Given the description of an element on the screen output the (x, y) to click on. 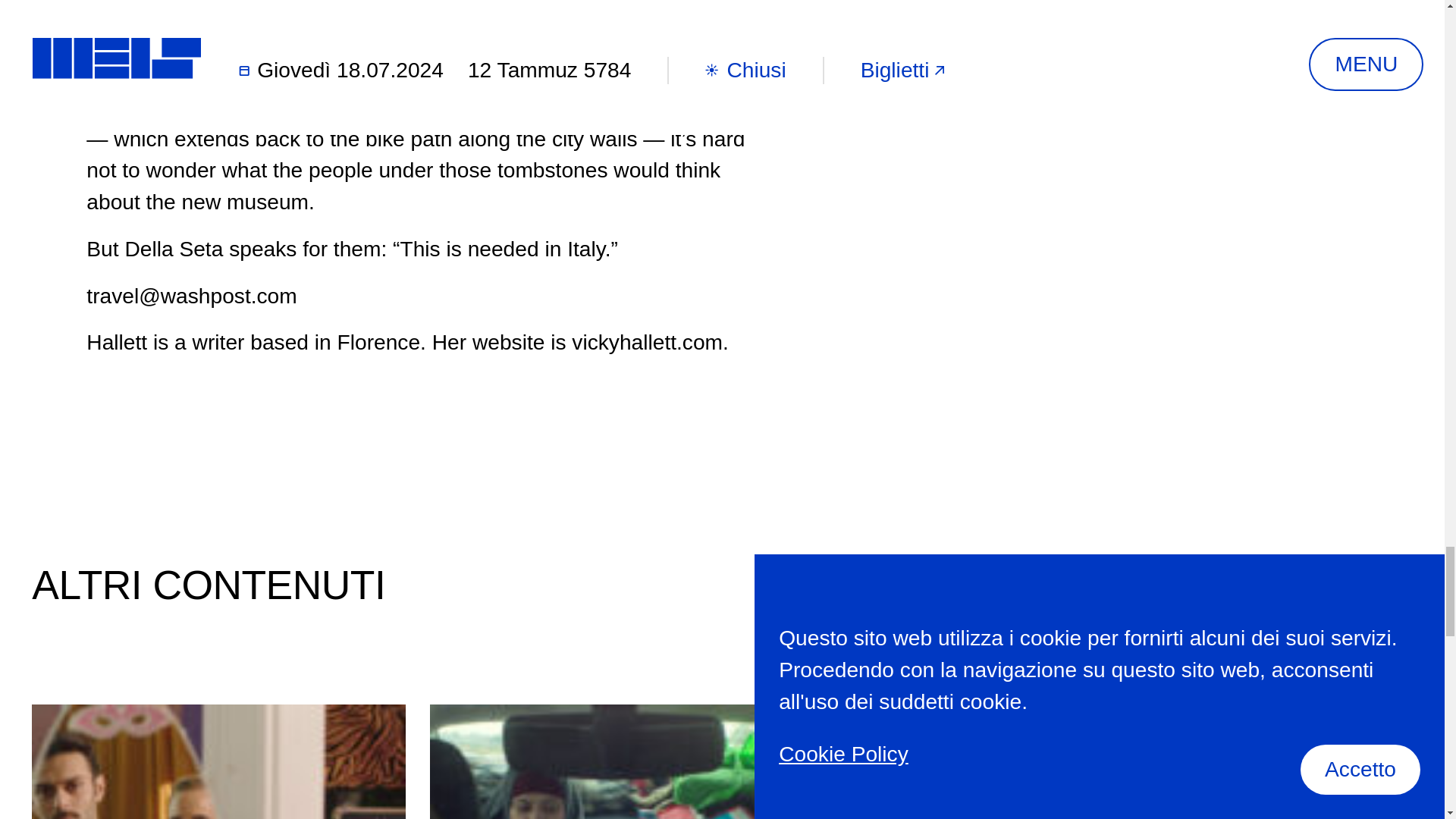
10 luglio, proiezione di Libere, disobbedienti, innamorate (616, 761)
